Given the description of an element on the screen output the (x, y) to click on. 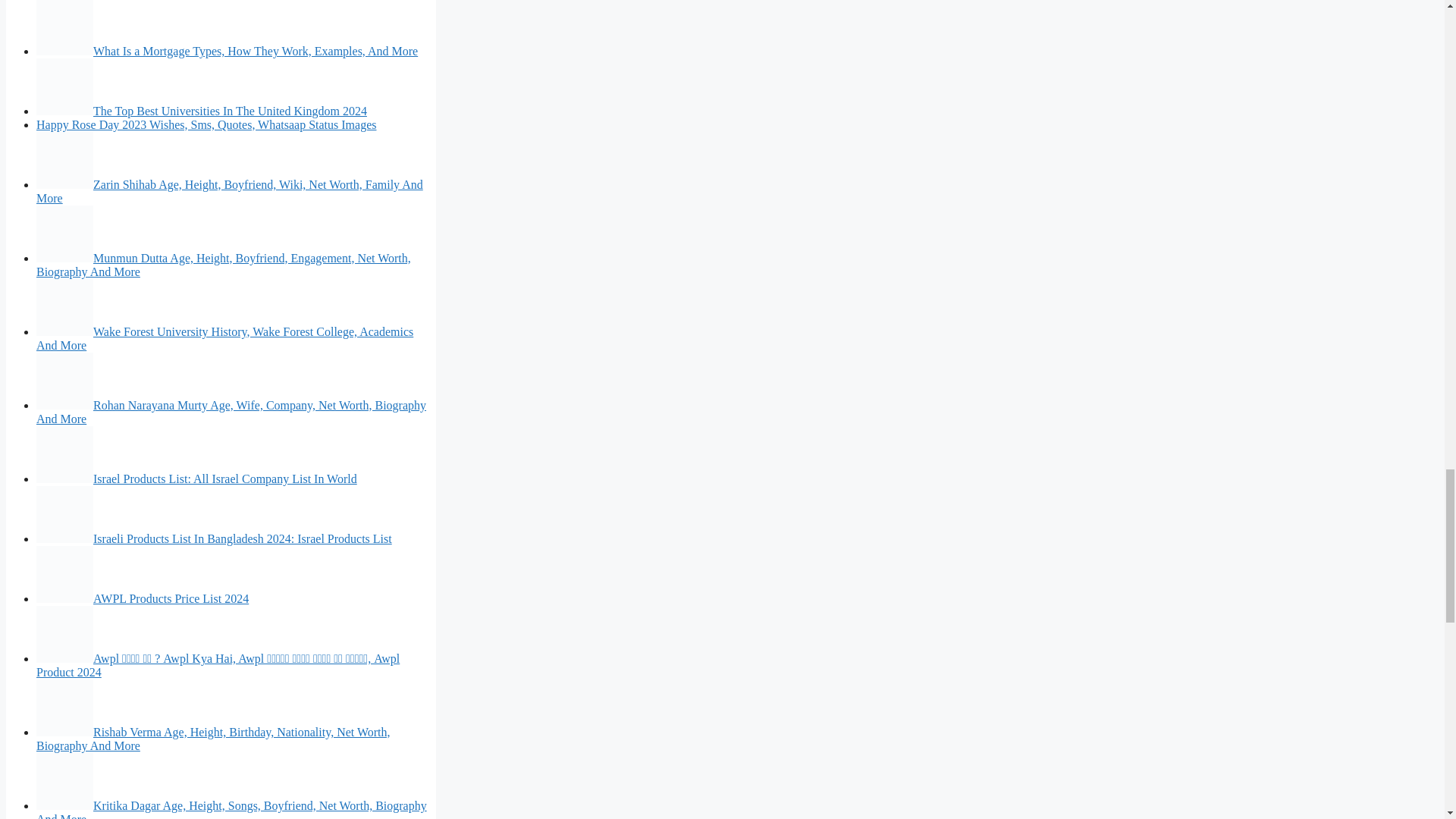
Israel Products List: All Israel Company List In World (196, 478)
The Top Best Universities In The United Kingdom 2024 (201, 110)
What Is a Mortgage Types, How They Work, Examples, And More (226, 51)
